Given the description of an element on the screen output the (x, y) to click on. 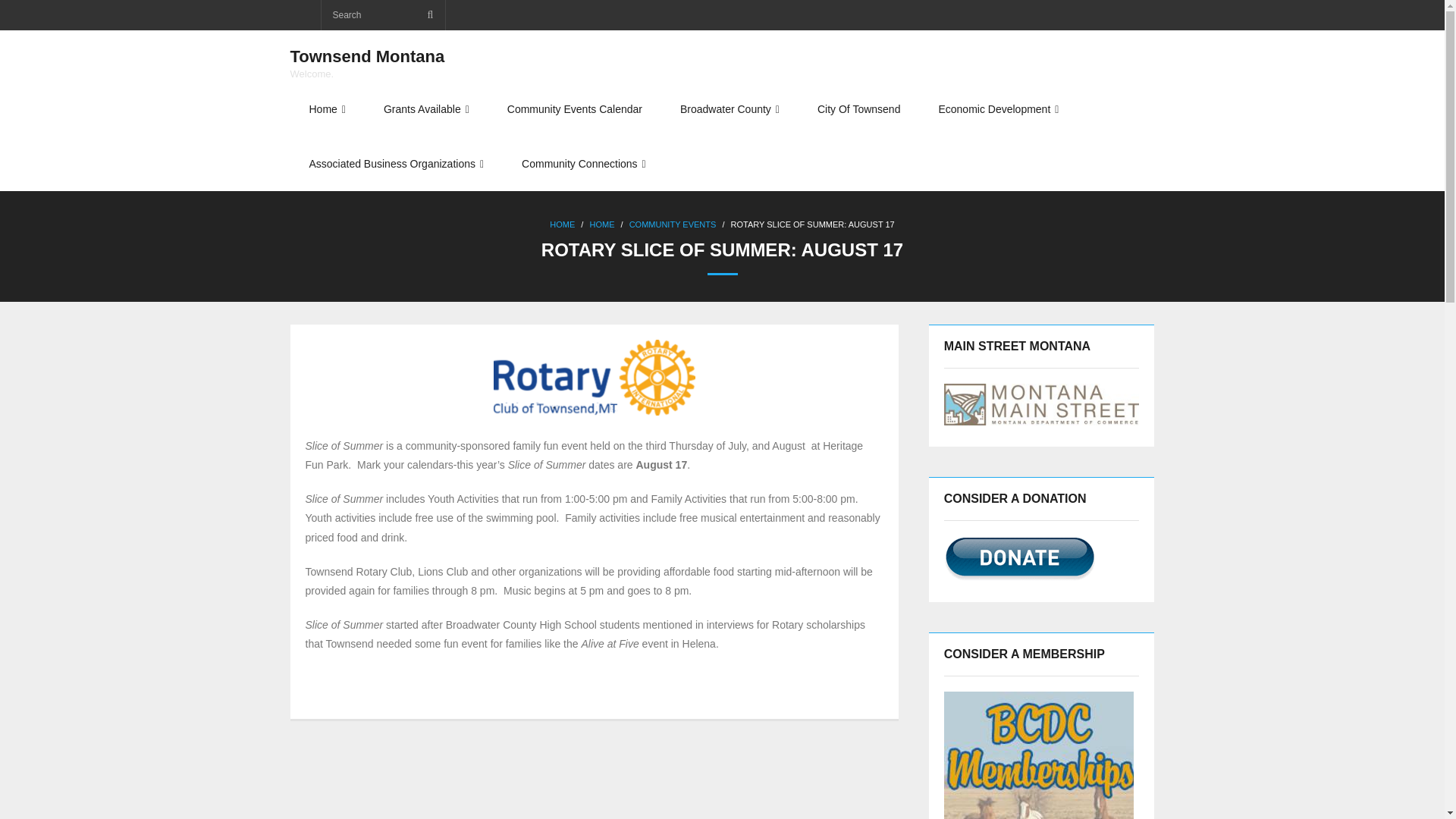
Welcome. (366, 73)
Home (326, 109)
Search (33, 15)
Broadwater County (729, 109)
Grants Available (426, 109)
PayPal - The safer, easier way to pay online! (1019, 558)
Townsend Montana (366, 57)
Community Events Calendar (366, 56)
